Given the description of an element on the screen output the (x, y) to click on. 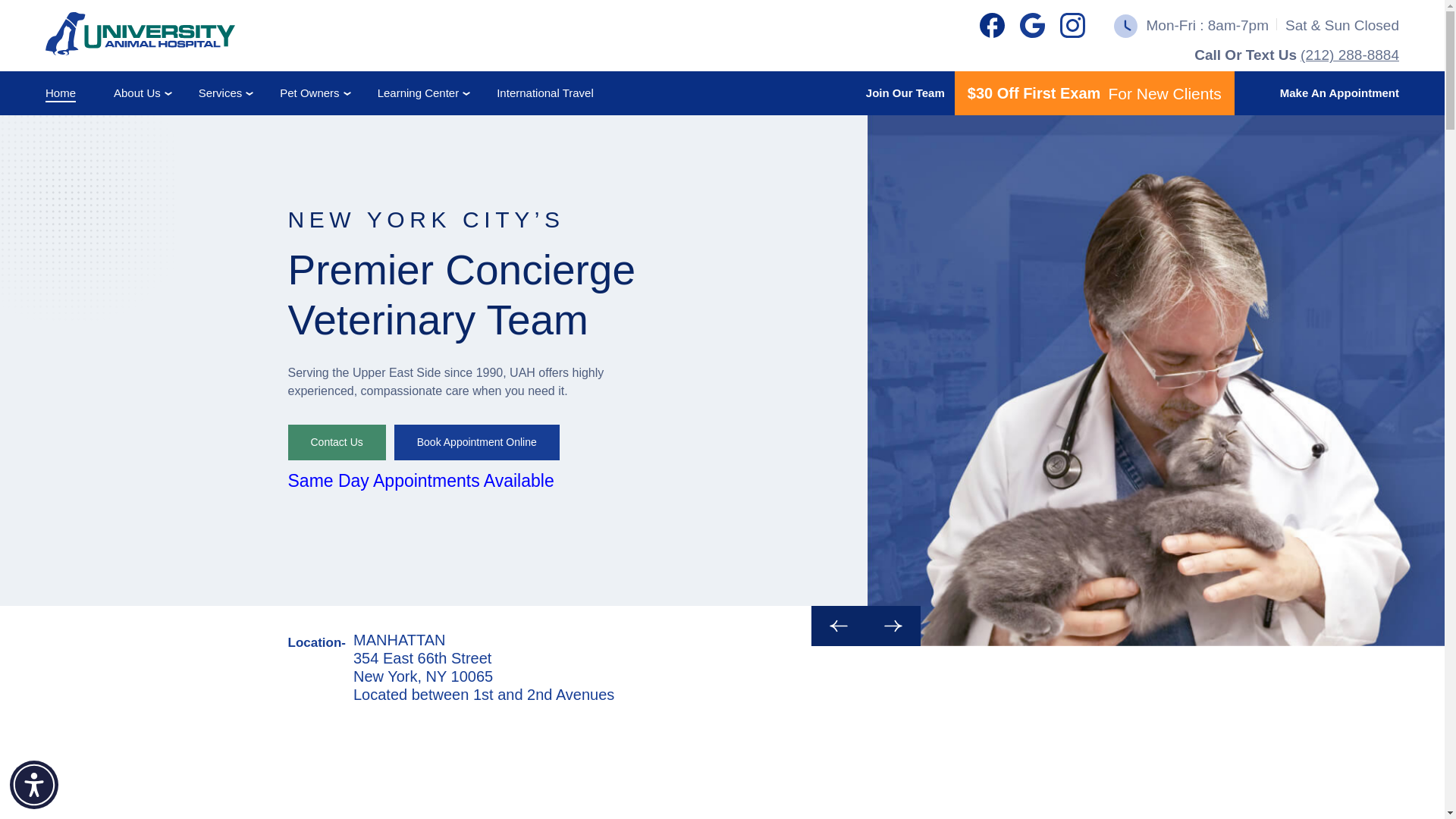
Learning Center (418, 92)
Pet Owners (309, 92)
Home (60, 92)
Accessibility Menu (34, 784)
International Travel (545, 92)
About Us (136, 92)
Services (220, 92)
Join Our Team (910, 93)
Contact Us (336, 442)
Book Appointment Online (476, 442)
